Given the description of an element on the screen output the (x, y) to click on. 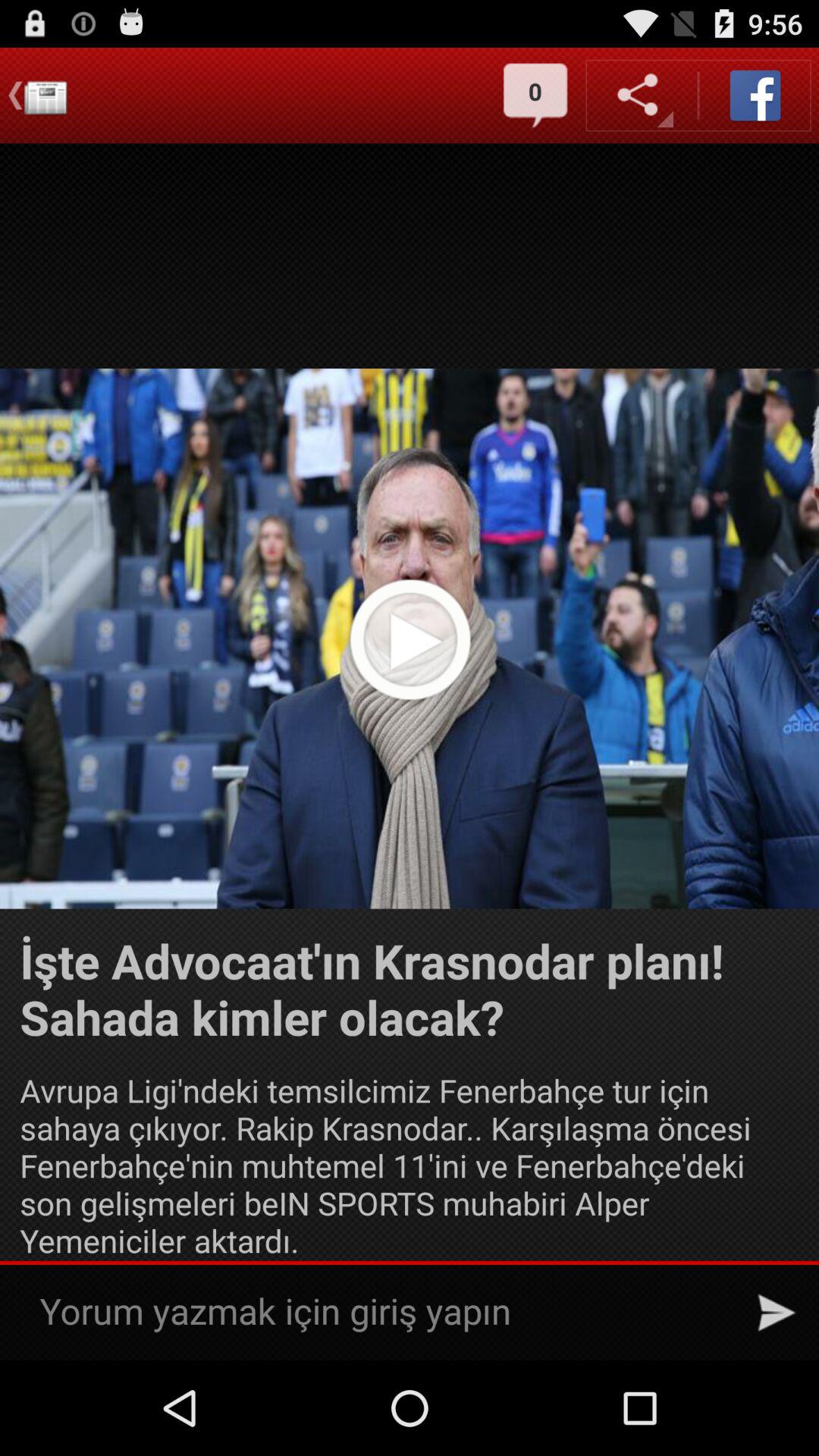
choose item below the avrupa ligi ndeki (776, 1312)
